Given the description of an element on the screen output the (x, y) to click on. 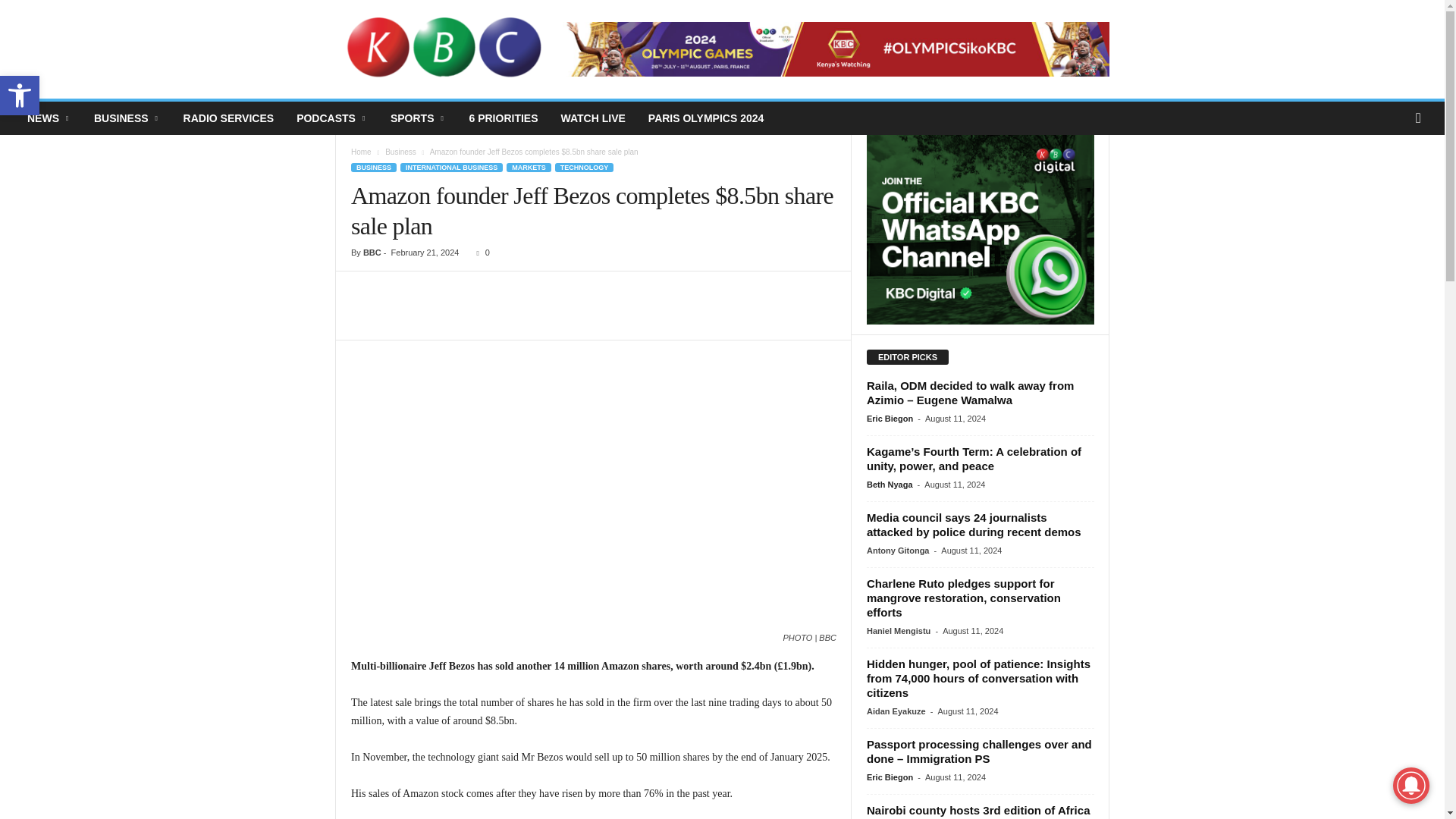
Accessibility Tools (19, 95)
Accessibility Tools (19, 95)
